Given the description of an element on the screen output the (x, y) to click on. 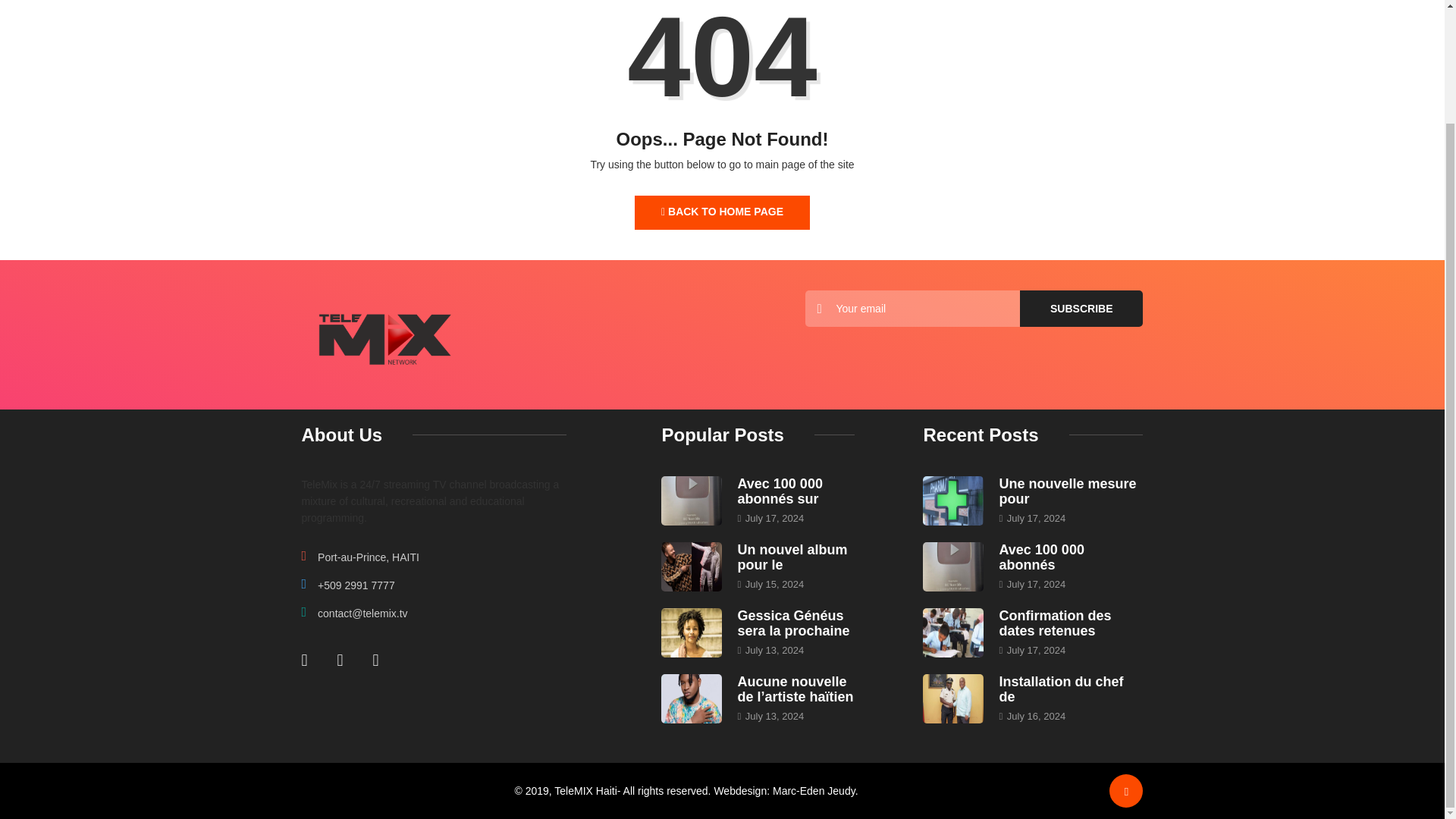
Un nouvel album pour le (791, 557)
Subscribe (1081, 308)
Subscribe (1081, 308)
Un nouvel album pour le duo DroXYani (691, 566)
BACK TO HOME PAGE (721, 212)
Un nouvel album pour le duo DroXYani (791, 557)
